Given the description of an element on the screen output the (x, y) to click on. 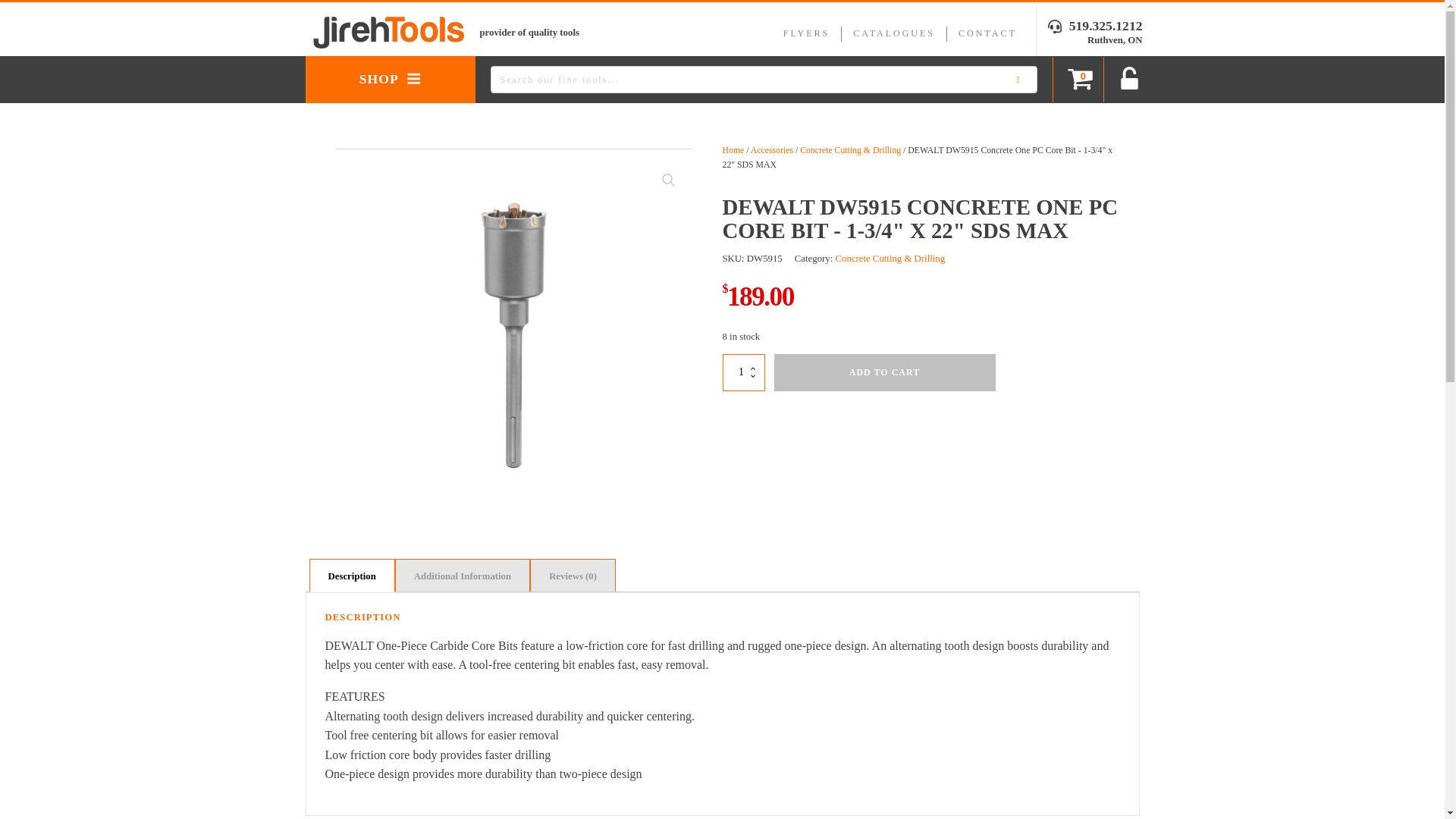
CONTACT (987, 33)
Home (733, 150)
1 (743, 371)
Description (350, 575)
Accessories (772, 150)
CATALOGUES (894, 33)
SHOP (389, 78)
ADD TO CART (883, 371)
519.325.1212 (1095, 26)
Additional Information (462, 575)
DW5915-0.jpeg (513, 335)
FLYERS (806, 33)
